Given the description of an element on the screen output the (x, y) to click on. 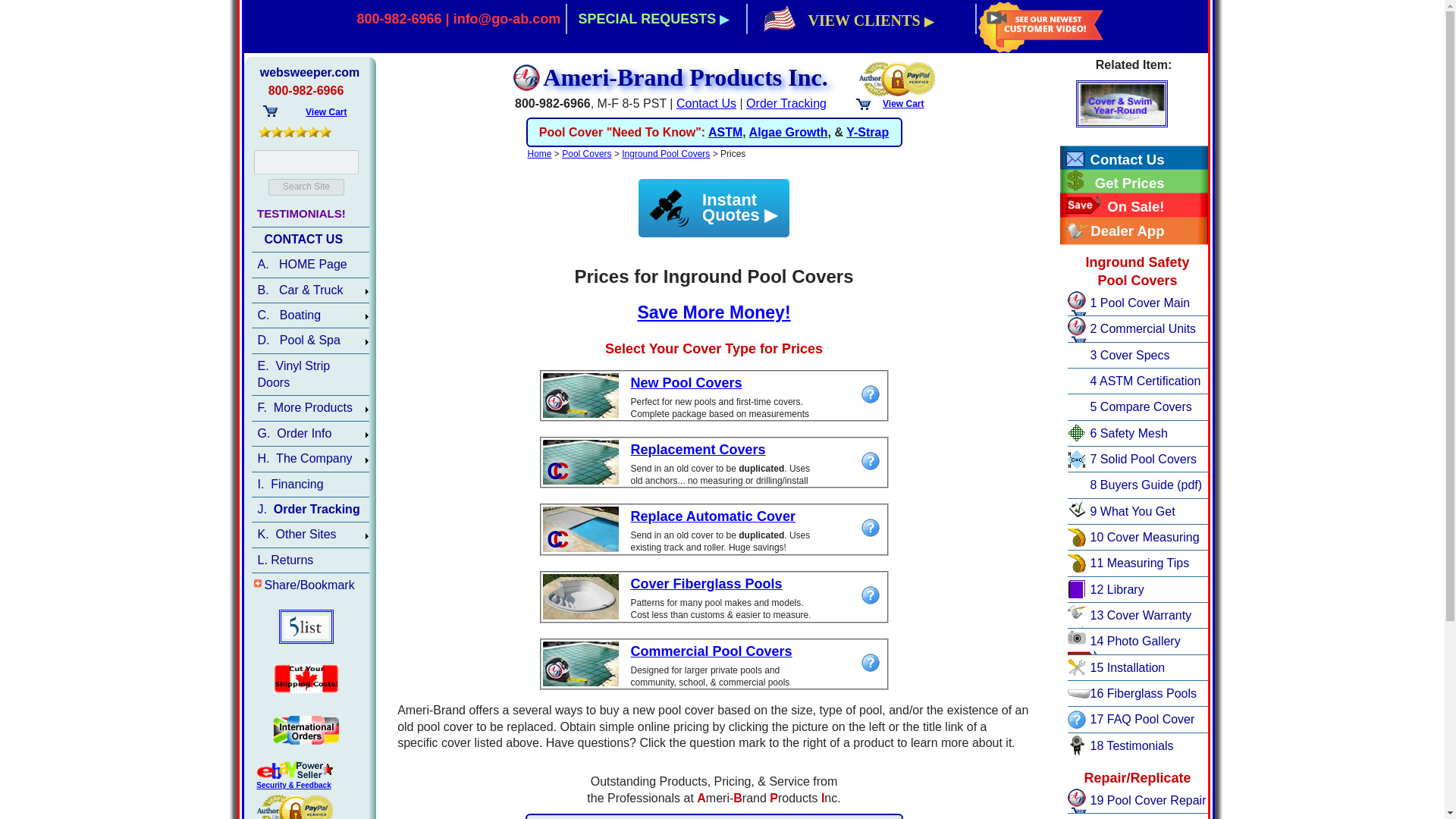
Learn more about replacement pool covers (870, 461)
Replace Automatic Cover (712, 516)
Home (539, 153)
Commercial Pool Covers (711, 651)
On Sale! (1119, 205)
View Cart (902, 103)
Contact Us (706, 103)
Security Certifications and Consumer Feedback (897, 77)
Algae Growth (788, 132)
Dealer App (1119, 228)
Replacement Covers (697, 449)
Security and Customer Feedback (293, 789)
Inground Pool Covers (665, 153)
Learn more about new pool covers (870, 393)
Get Prices (1119, 180)
